Given the description of an element on the screen output the (x, y) to click on. 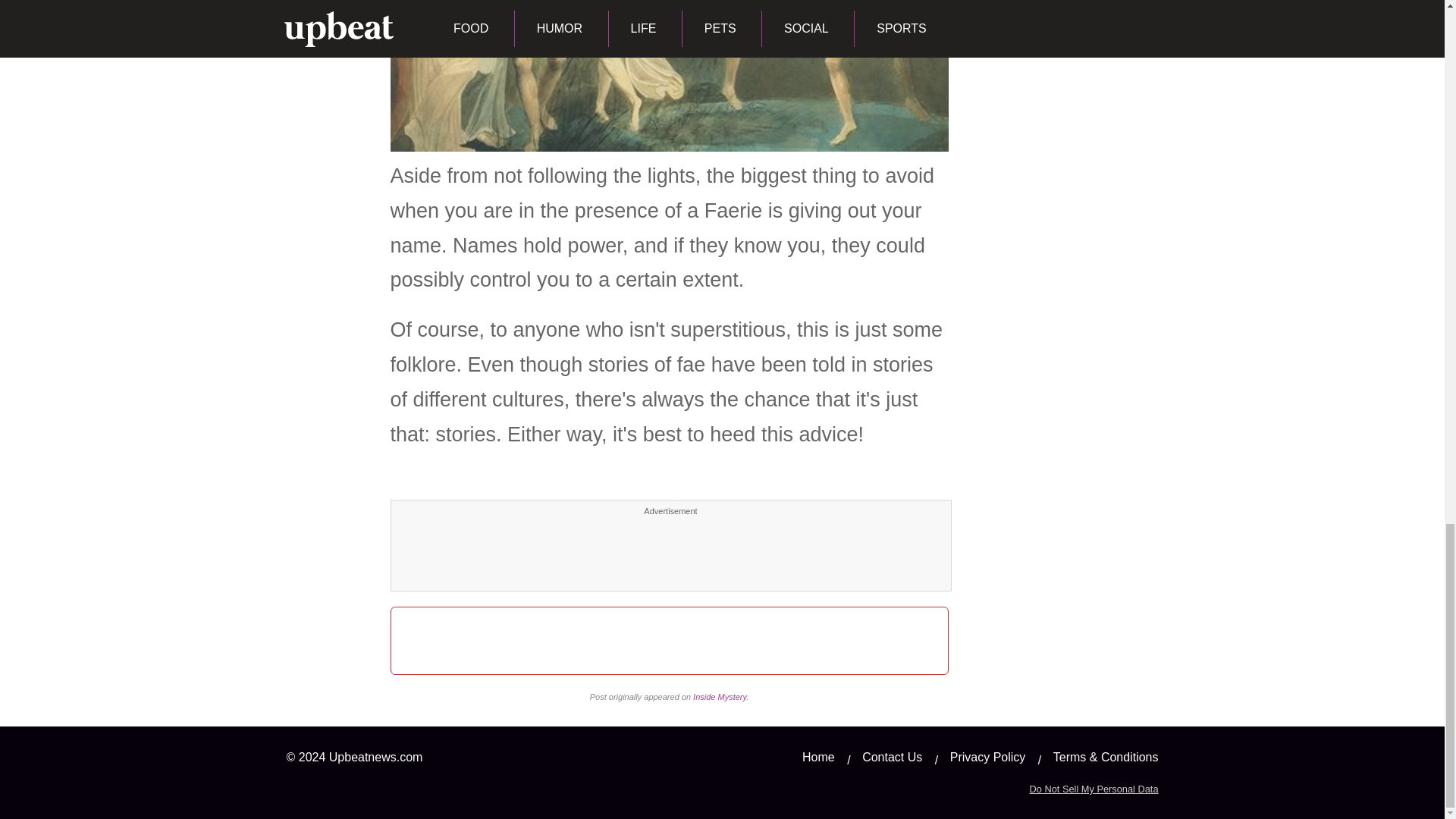
Inside Mystery (719, 696)
Do Not Sell My Personal Data (1093, 788)
Contact Us (891, 757)
Privacy Policy (988, 757)
Home (818, 757)
